Given the description of an element on the screen output the (x, y) to click on. 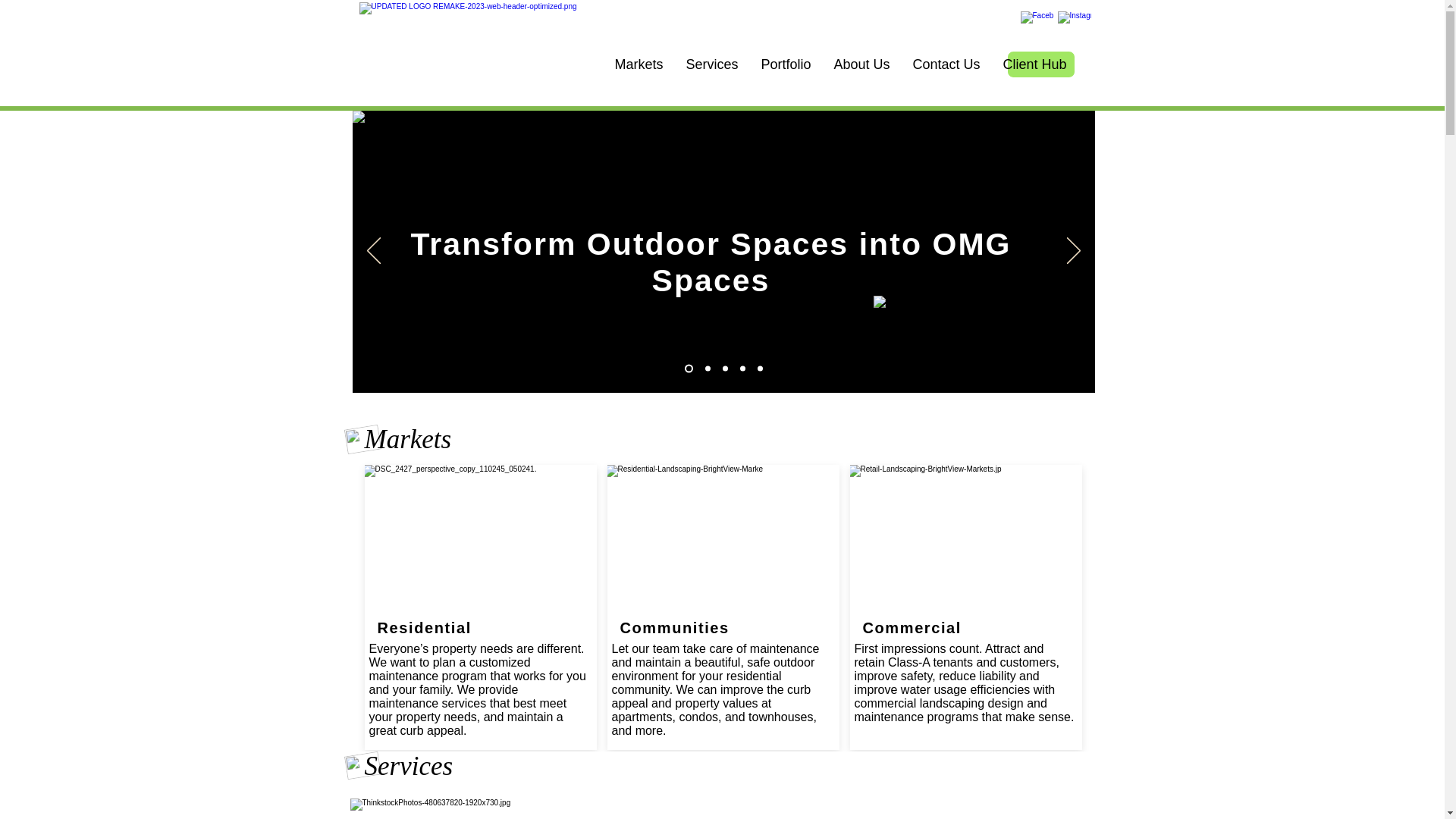
Contact Us (946, 64)
Services (712, 64)
About Us (861, 64)
Portfolio (785, 64)
Markets (639, 64)
Markets (407, 439)
